Given the description of an element on the screen output the (x, y) to click on. 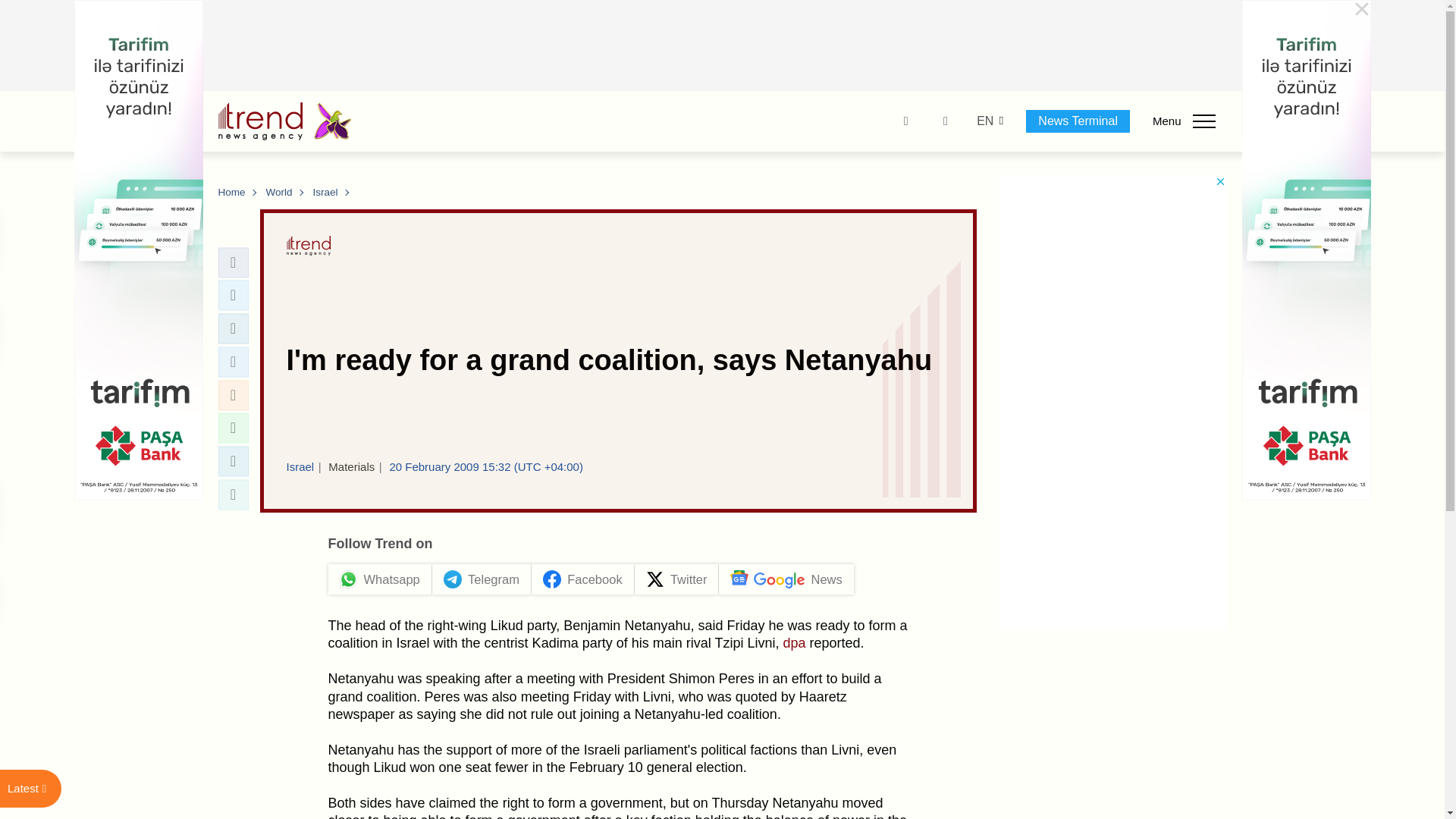
3rd party ad content (722, 45)
EN (984, 121)
English (984, 121)
News Terminal (1077, 120)
